Given the description of an element on the screen output the (x, y) to click on. 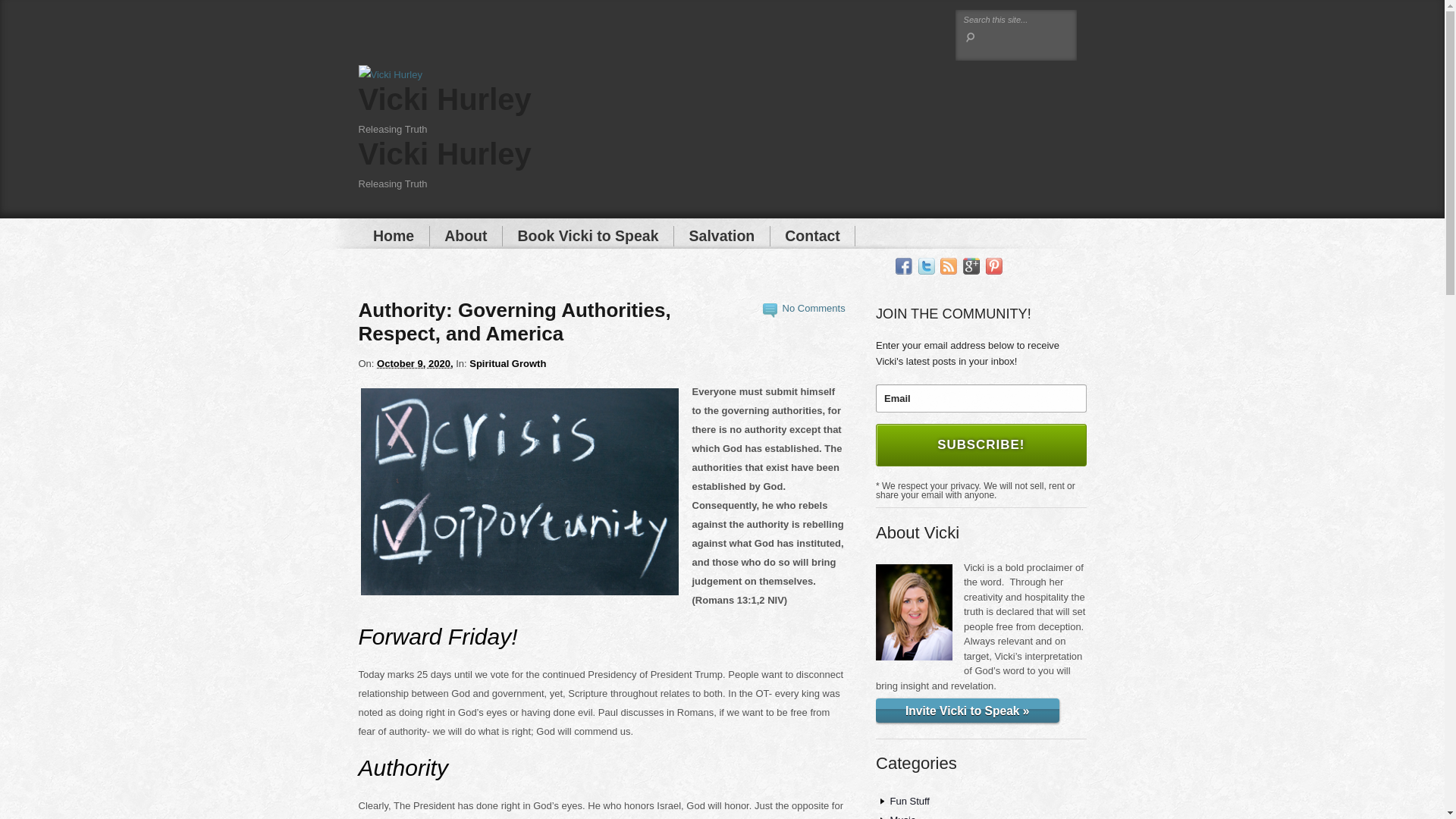
RSS (948, 266)
2020-10-09T01:24:38-0500 (414, 363)
Pinterest (994, 266)
Fun Stuff (909, 800)
Music (902, 816)
View all items in Spiritual Growth (507, 363)
Salvation (722, 236)
Contact (813, 236)
No Comments (814, 307)
Vicki Hurley (444, 153)
